Given the description of an element on the screen output the (x, y) to click on. 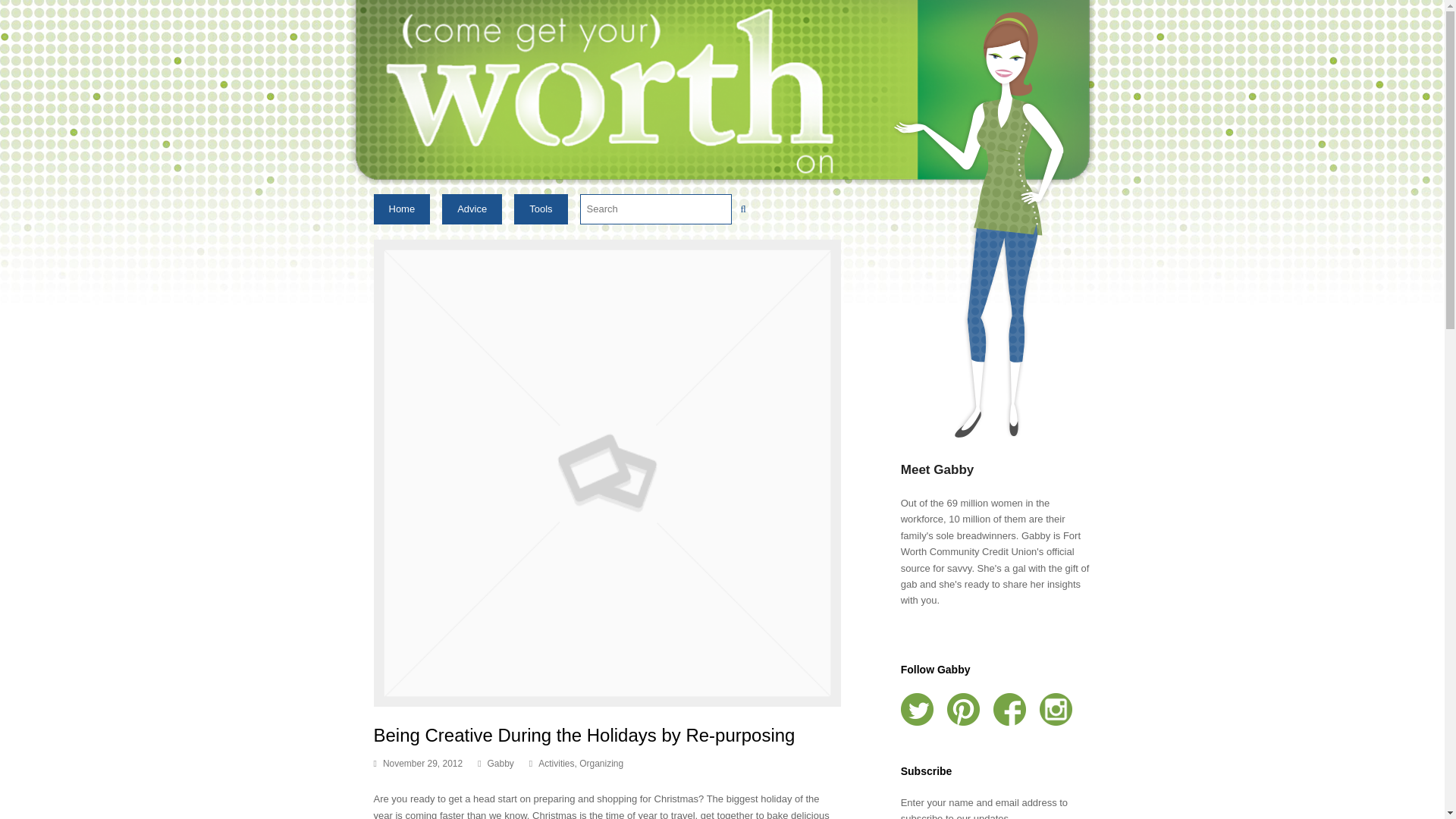
Advice (472, 209)
Home (400, 209)
Activities (555, 763)
Posts by Gabby (500, 763)
Get Your Worth On (721, 91)
Gabby (500, 763)
Organizing (601, 763)
Tools (540, 209)
